Given the description of an element on the screen output the (x, y) to click on. 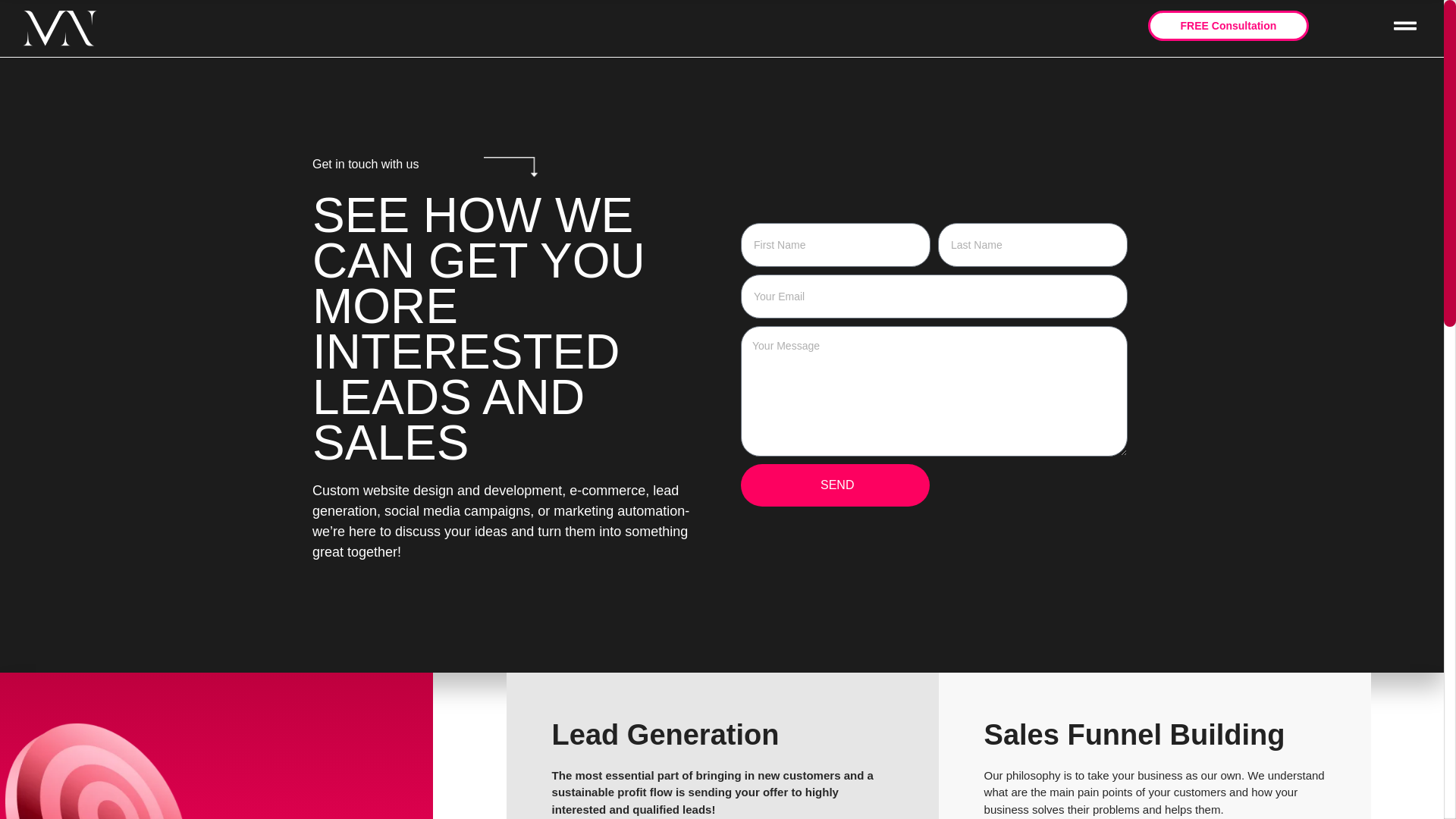
SEND (835, 485)
